Given the description of an element on the screen output the (x, y) to click on. 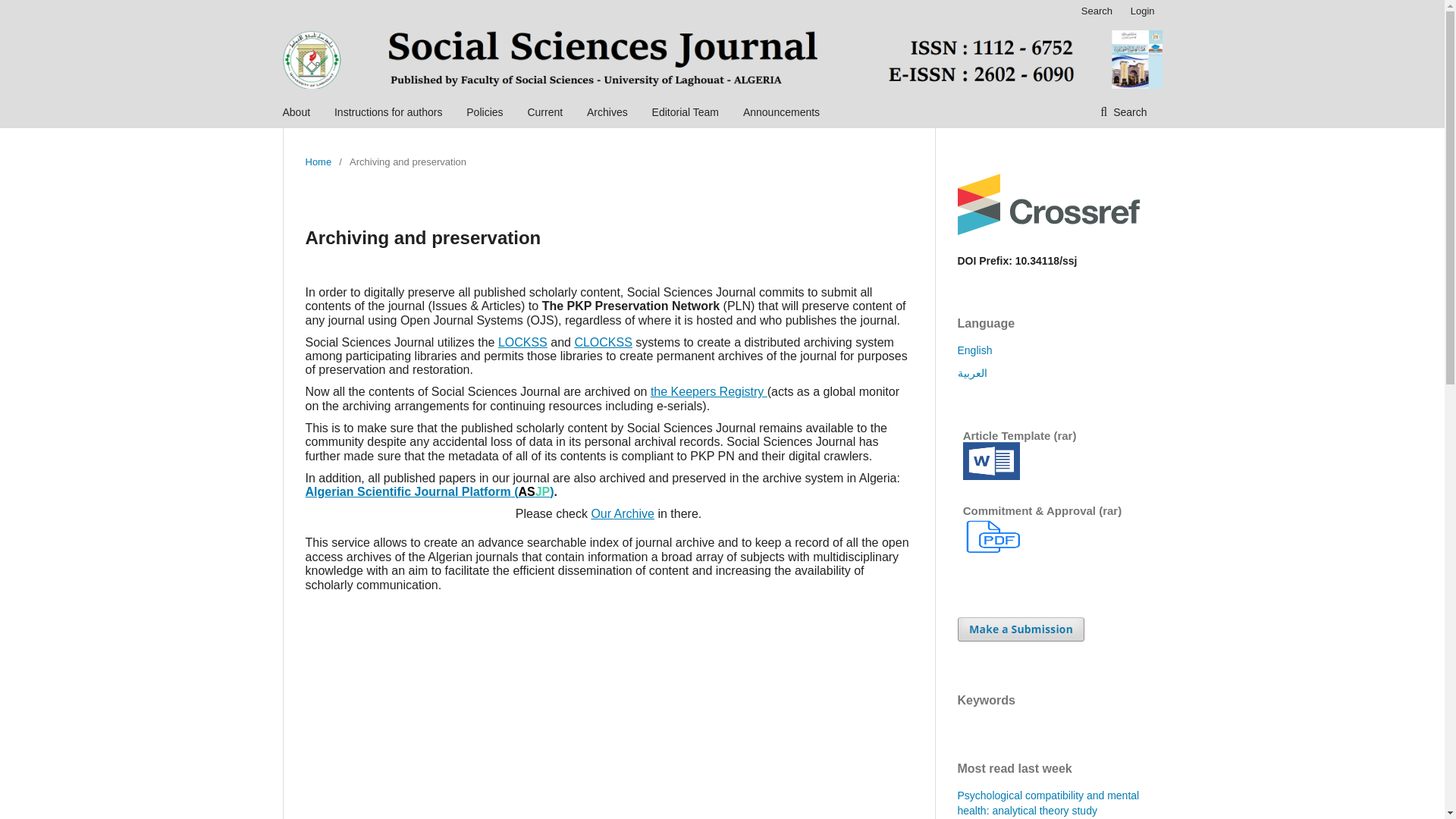
LOCKSS (522, 341)
CLOCKSS (602, 341)
Home (317, 161)
Instructions for authors (388, 112)
Editorial Team (685, 112)
Archives (606, 112)
Search (1096, 11)
Search (1122, 112)
English (973, 349)
